Given the description of an element on the screen output the (x, y) to click on. 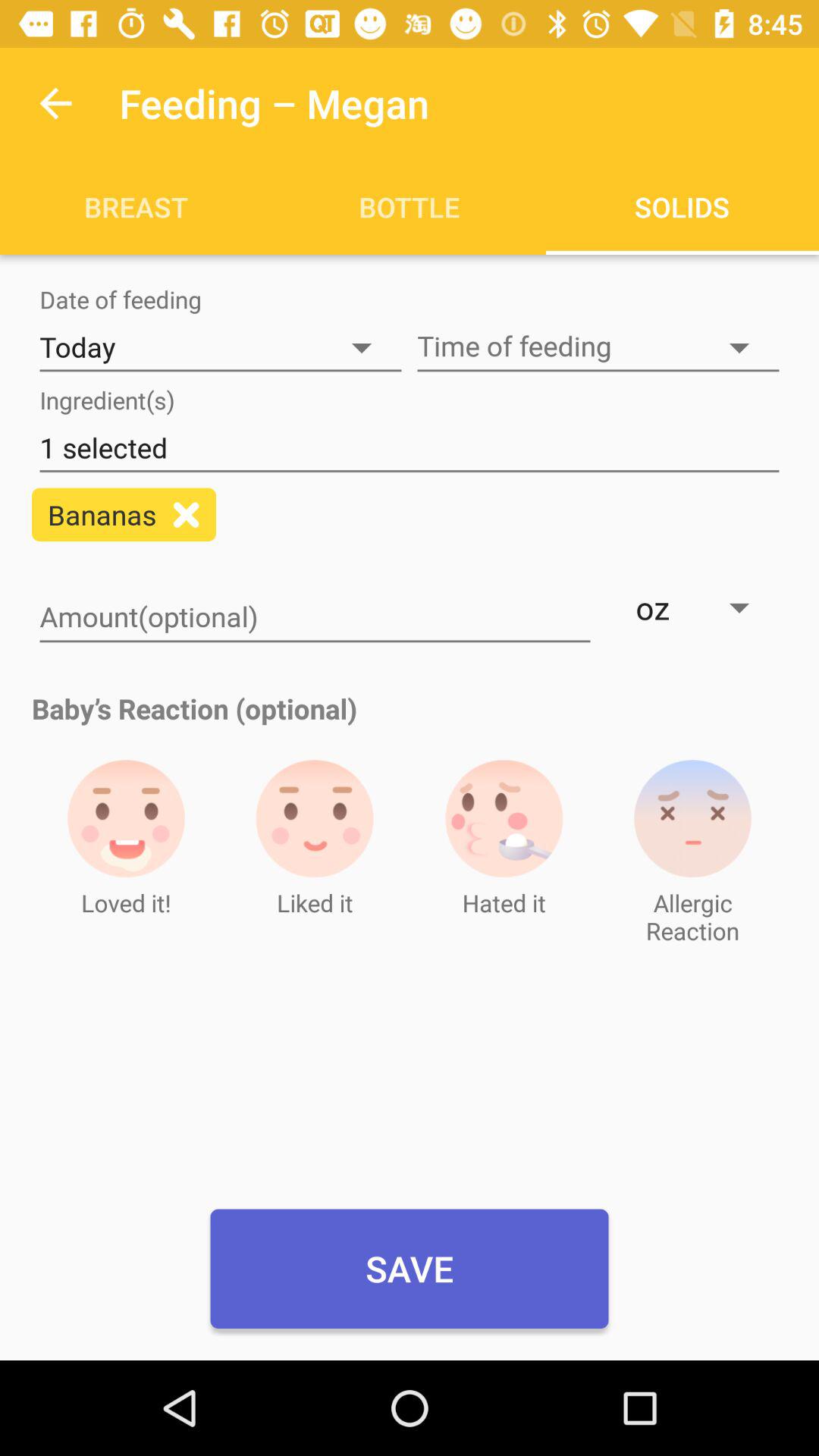
choose item below liked it (409, 1268)
